Given the description of an element on the screen output the (x, y) to click on. 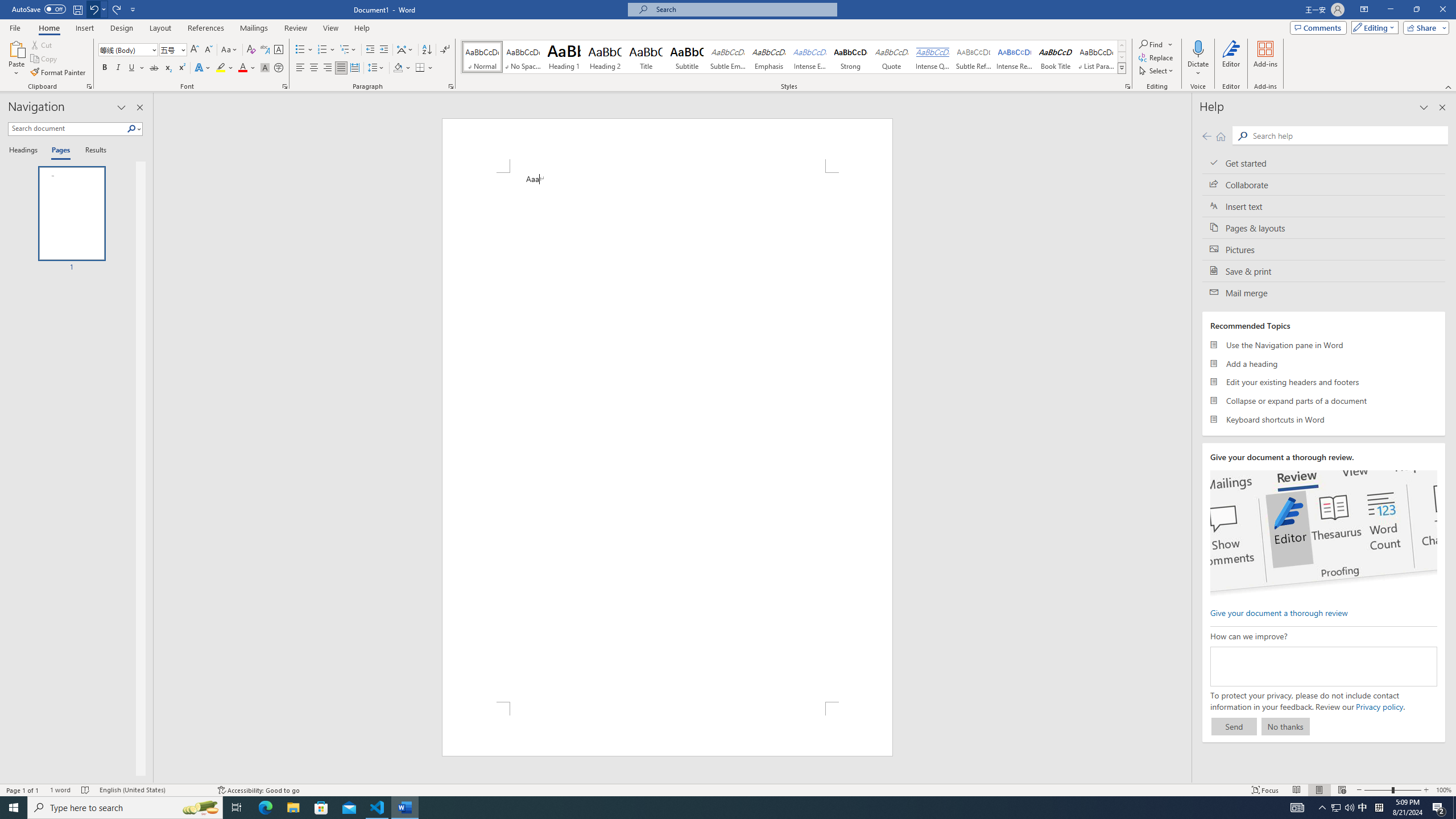
Add a heading (1323, 363)
Subtle Reference (973, 56)
Use the Navigation pane in Word (1323, 344)
Home (1220, 136)
Close (1442, 9)
Font Size (169, 49)
Borders (424, 67)
Class: MsoCommandBar (728, 789)
System (6, 6)
Underline (136, 67)
Styles... (1127, 85)
Undo Increase Indent (92, 9)
Superscript (180, 67)
